Given the description of an element on the screen output the (x, y) to click on. 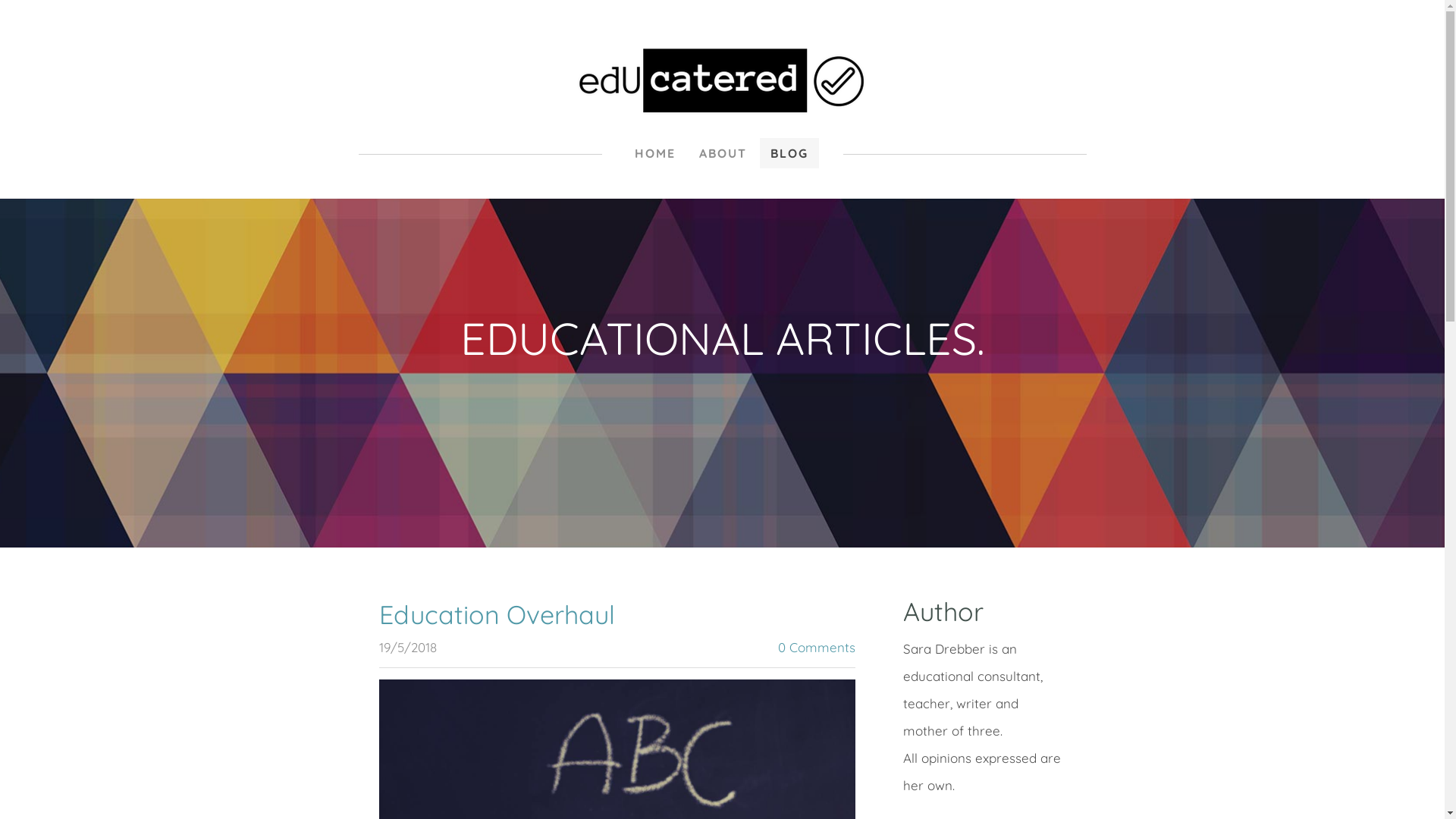
HOME Element type: text (654, 153)
Education Overhaul Element type: text (497, 614)
ABOUT Element type: text (722, 153)
0 Comments Element type: text (816, 647)
BLOG Element type: text (789, 153)
